Given the description of an element on the screen output the (x, y) to click on. 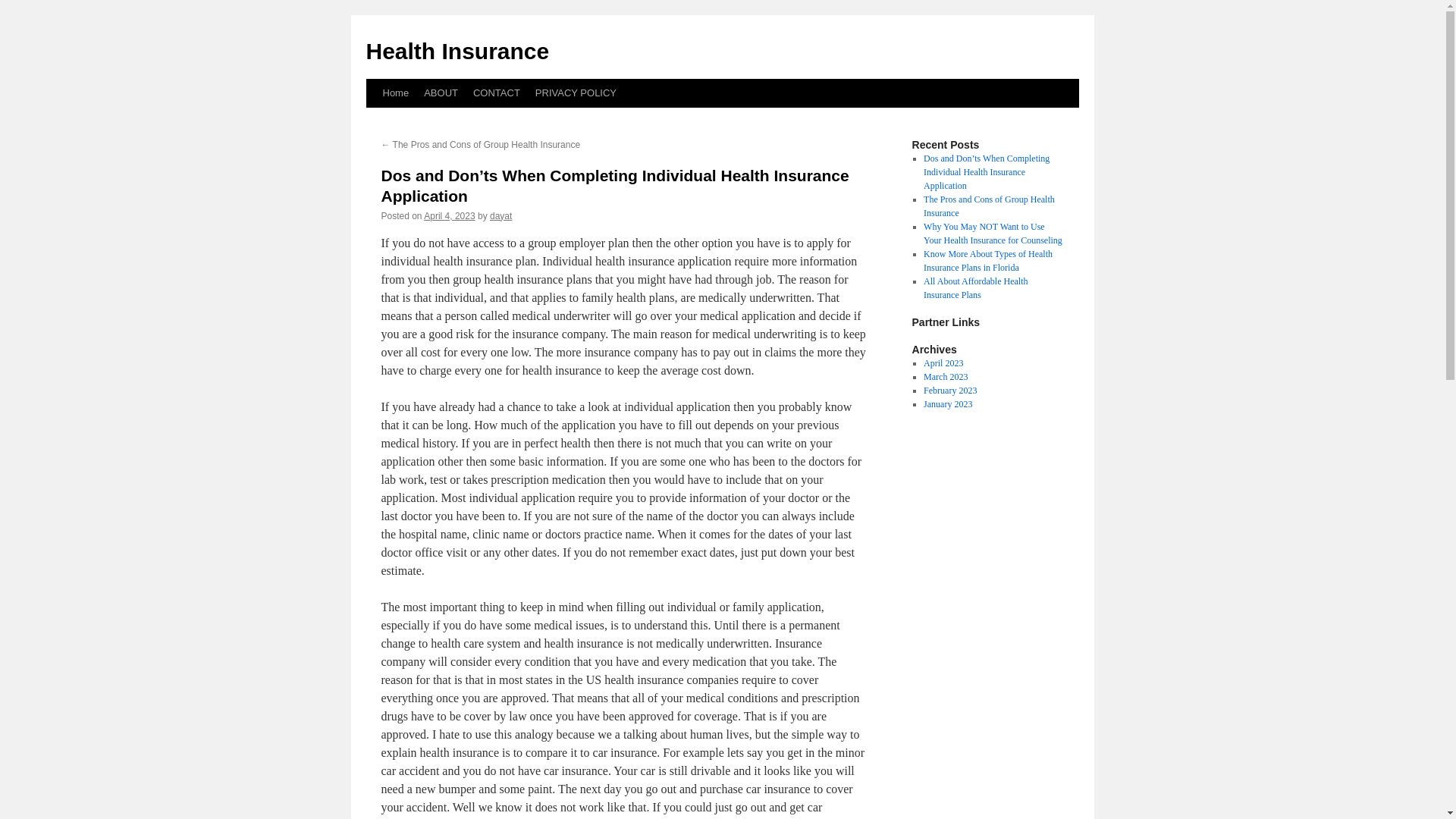
Skip to content (372, 121)
CONTACT (496, 92)
Health Insurance (456, 50)
CONTACT (496, 92)
ABOUT (440, 92)
Skip to content (372, 121)
Know More About Types of Health Insurance Plans in Florida (987, 260)
Home (395, 92)
PRIVACY POLICY (575, 92)
March 2023 (945, 376)
ABOUT (440, 92)
April 2023 (942, 362)
2:11 pm (448, 215)
The Pros and Cons of Group Health Insurance (988, 206)
